Given the description of an element on the screen output the (x, y) to click on. 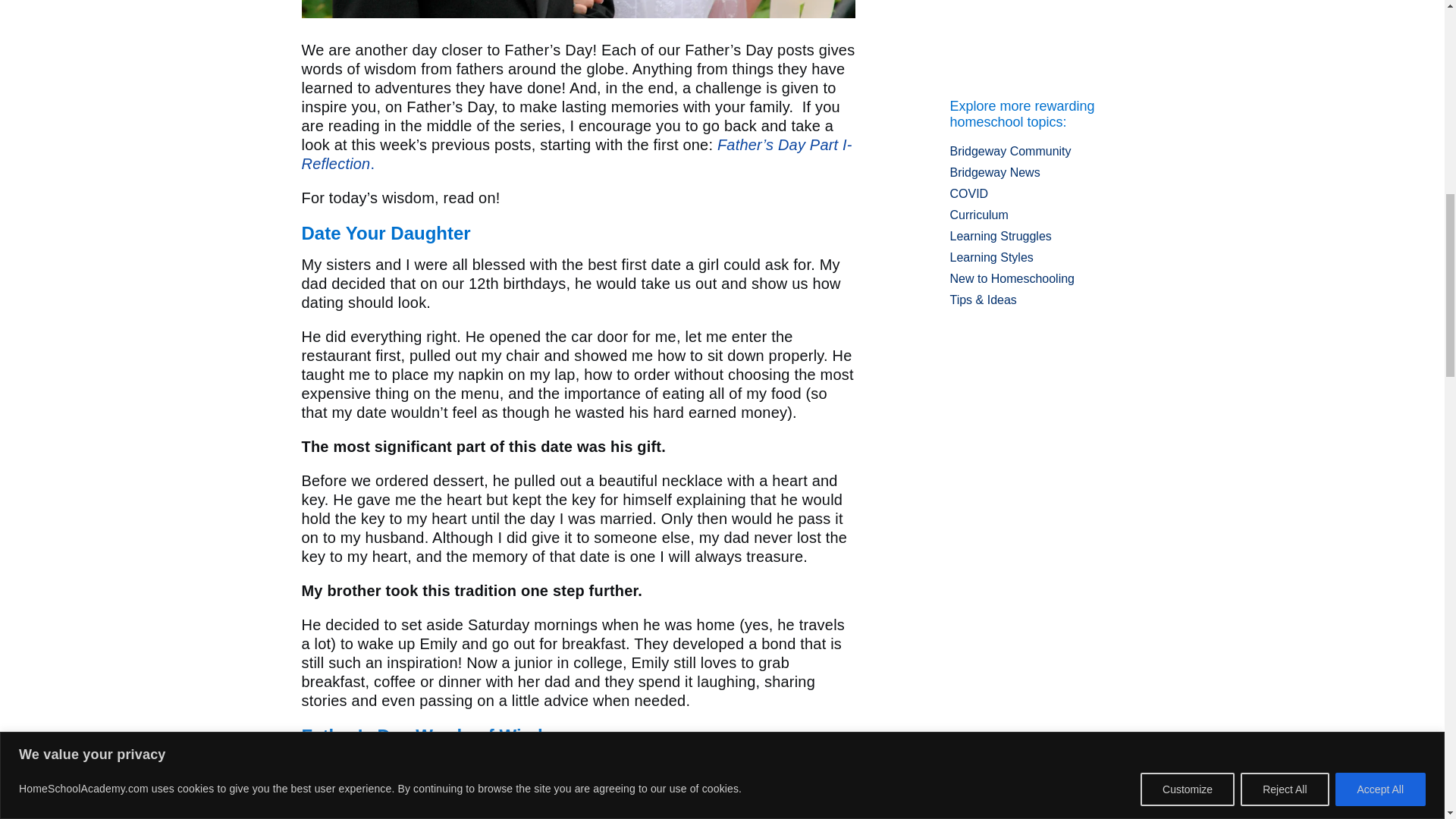
Form 0 (1045, 38)
